Given the description of an element on the screen output the (x, y) to click on. 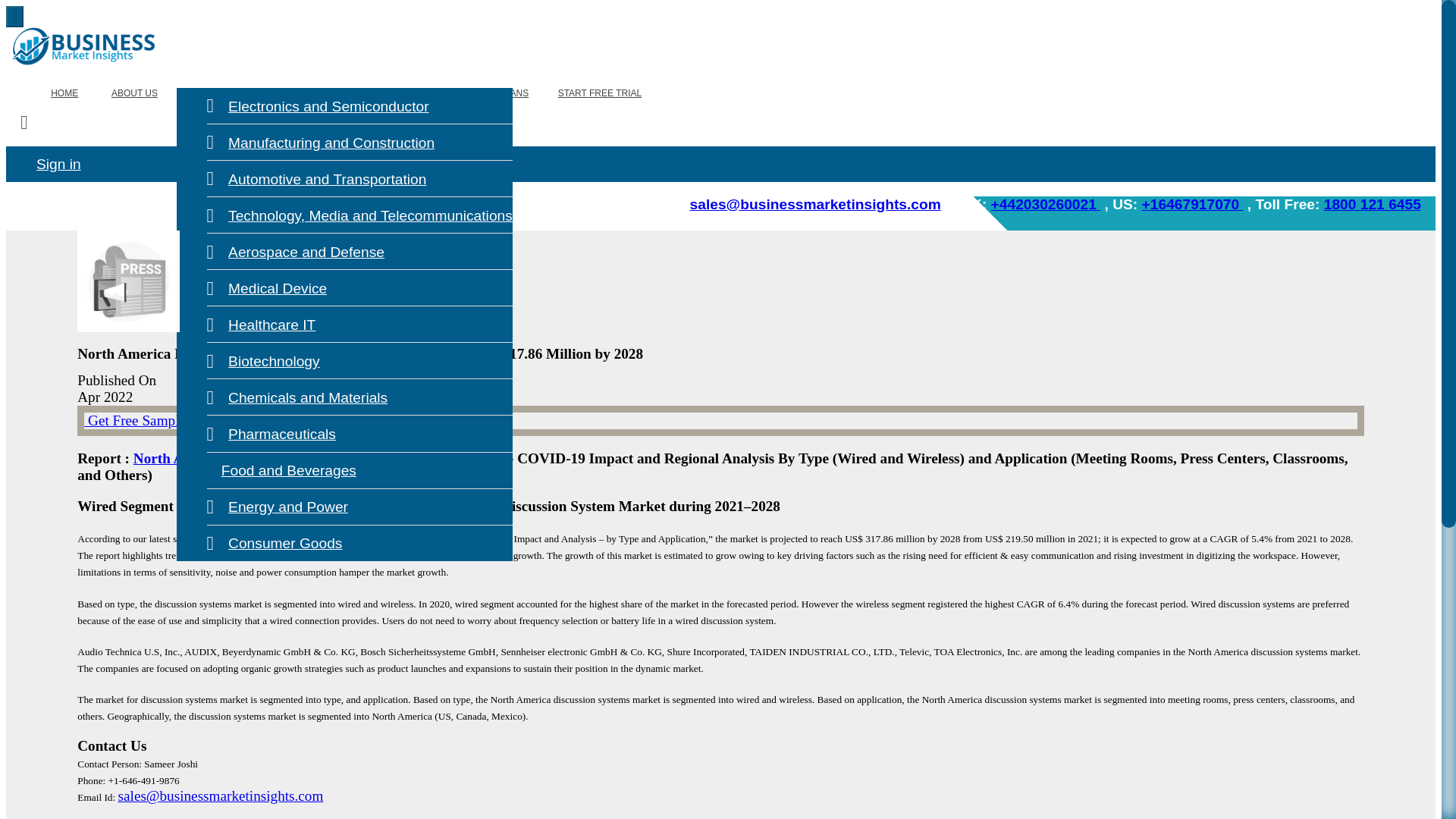
START FREE TRIAL (599, 92)
Healthcare IT (260, 324)
Biotechnology (263, 360)
Medical Device (266, 288)
Sign in (58, 163)
Aerospace and Defense (295, 252)
Consumer Goods (274, 543)
PRESS RELEASE (316, 92)
Buy Now (396, 420)
Get Free Sample PDF (149, 420)
Automotive and Transportation (316, 179)
North America Discussion Systems Market (268, 458)
HOME (64, 92)
Energy and Power (276, 506)
1800 121 6455 (1372, 204)
